Given the description of an element on the screen output the (x, y) to click on. 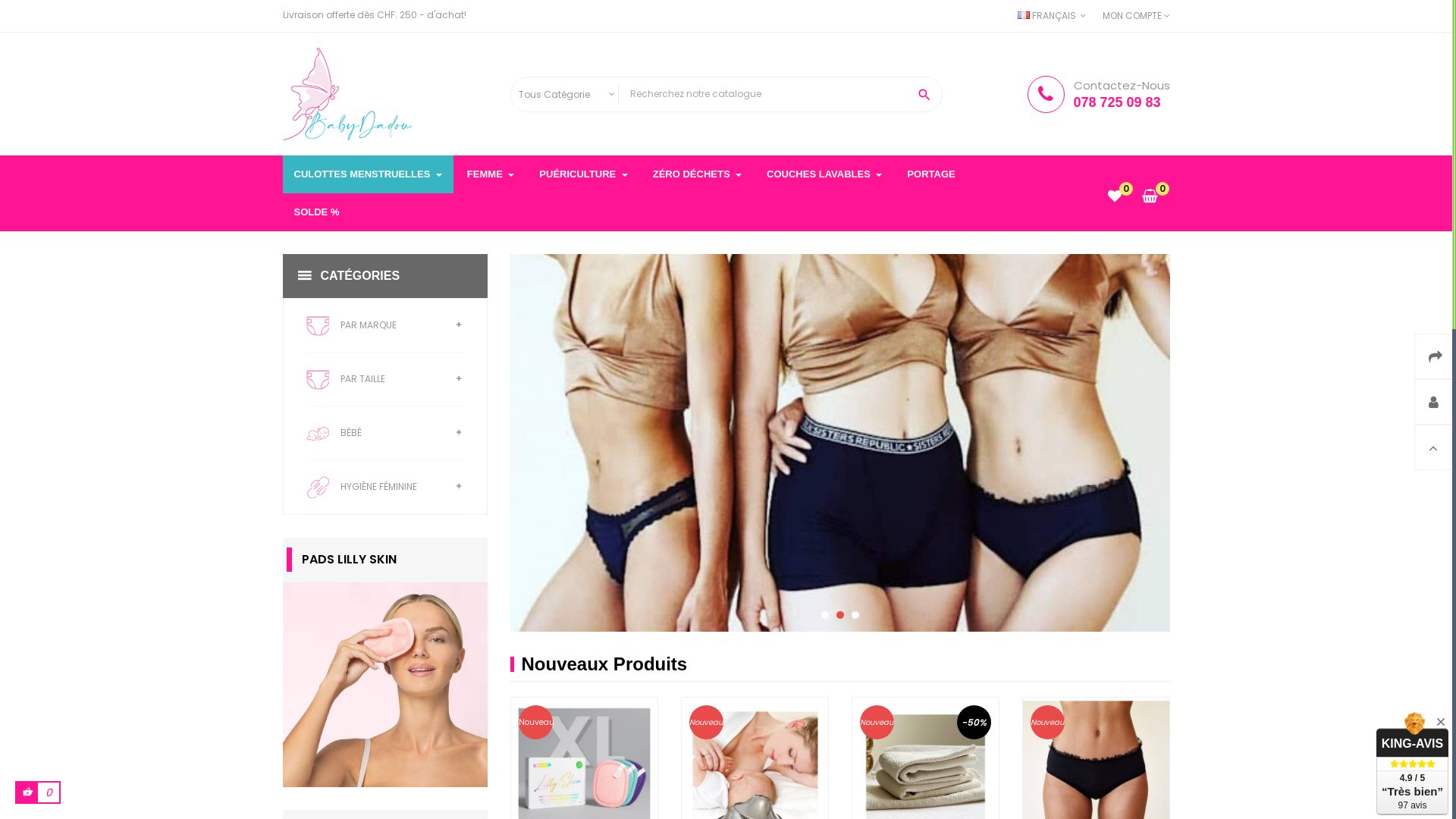
PORTAGE Element type: text (930, 174)
SOLDE % Element type: text (316, 212)
CULOTTES MENSTRUELLES Element type: text (367, 174)
FEMME Element type: text (490, 174)
PAR MARQUE Element type: text (384, 325)
0 Element type: text (1114, 196)
PAR TAILLE Element type: text (384, 379)
COUCHES LAVABLES Element type: text (824, 174)
Pads Lilly Skin Element type: hover (384, 684)
MON COMPTE Element type: text (1136, 15)
